Given the description of an element on the screen output the (x, y) to click on. 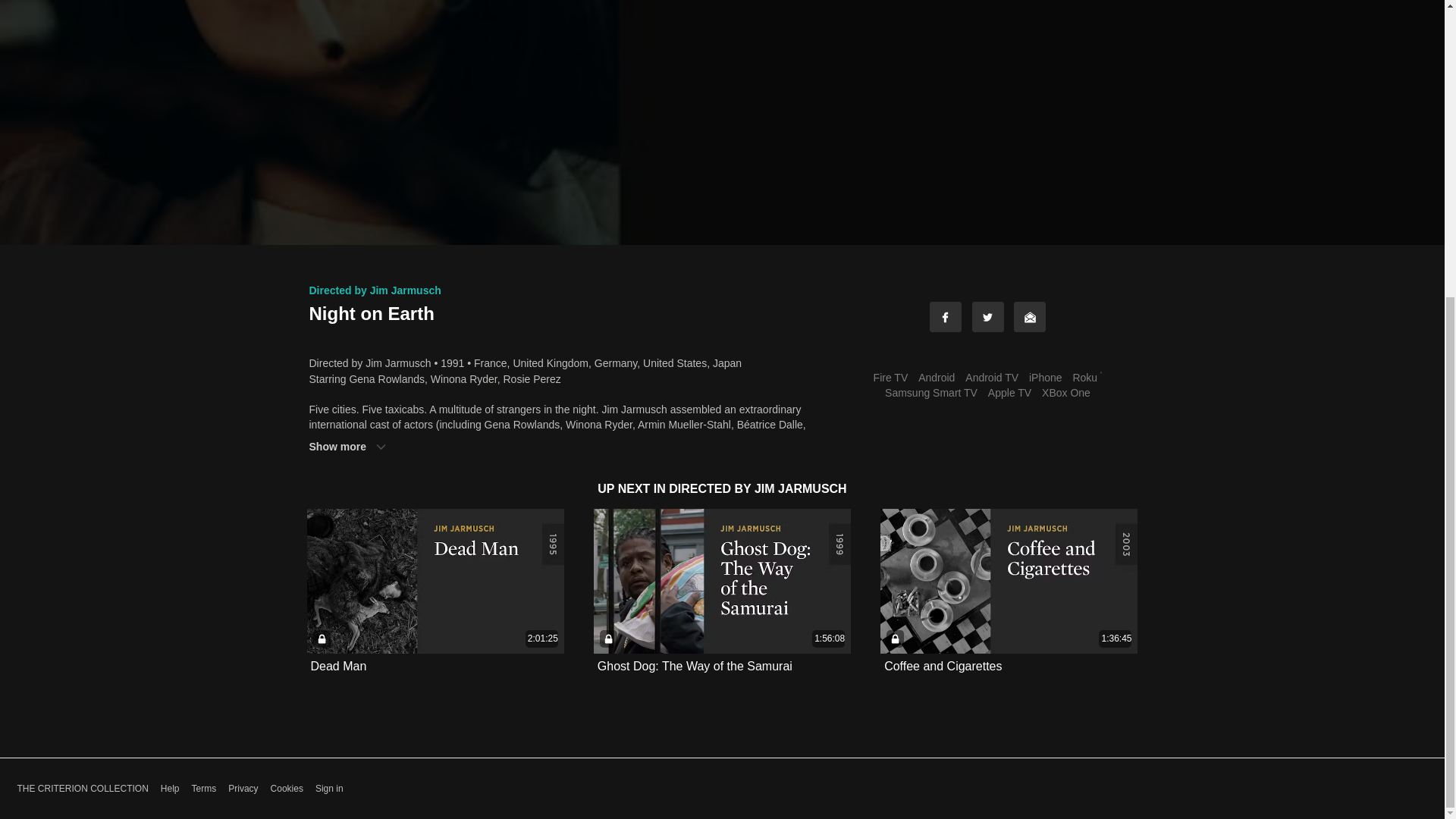
Coffee and Cigarettes (942, 666)
Ghost Dog: The Way of the Samurai (694, 666)
Email (1029, 317)
Cookies (286, 788)
Apple TV (1009, 392)
Ghost Dog: The Way of the Samurai (694, 666)
Twitter (988, 317)
Directed by Jim Jarmusch (374, 290)
XBox One (1066, 392)
Dead Man (338, 666)
Fire TV (890, 377)
Android TV (991, 377)
Help (169, 788)
Privacy (242, 788)
DIRECTED BY JIM JARMUSCH (756, 488)
